Given the description of an element on the screen output the (x, y) to click on. 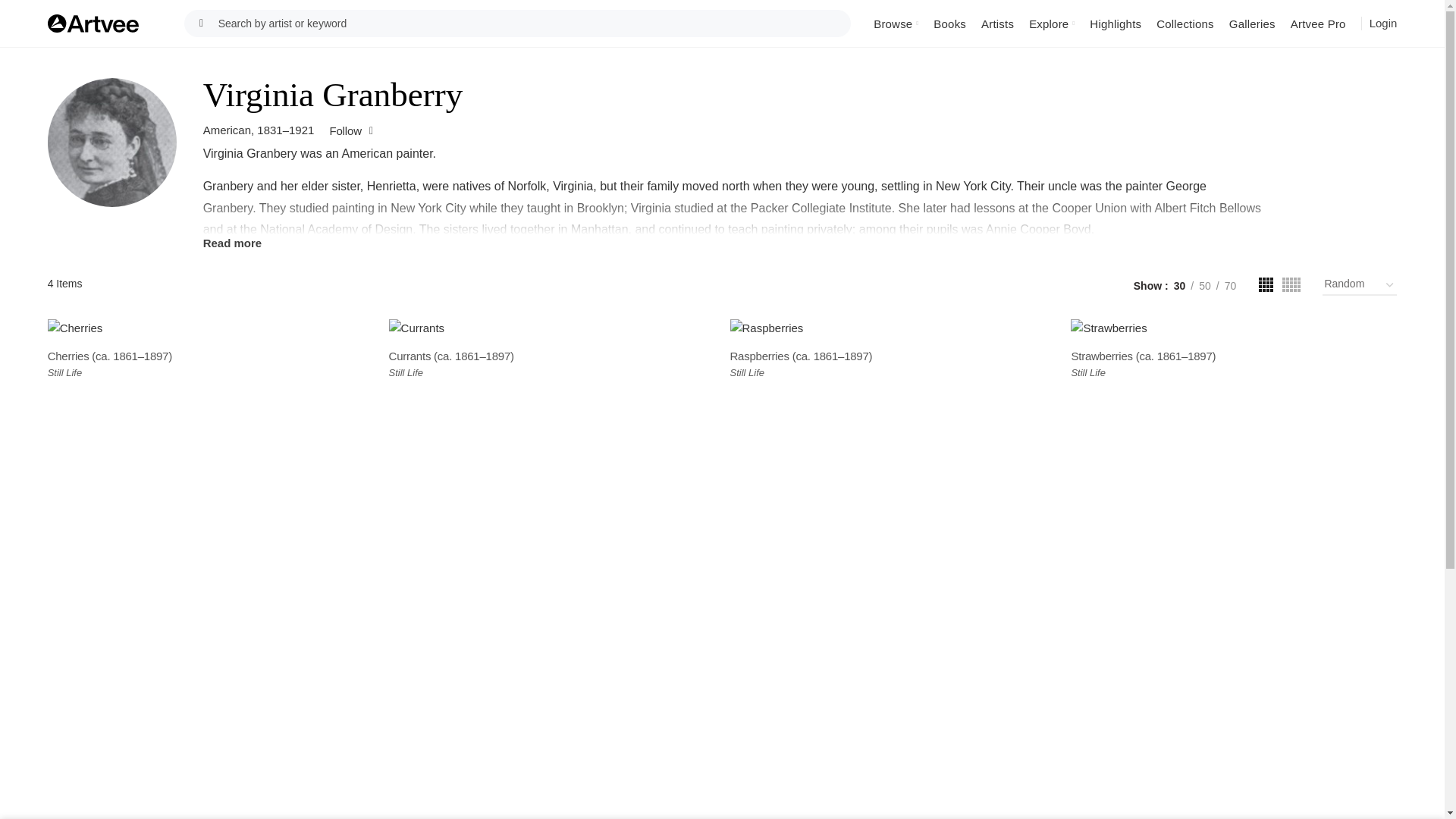
70 (1230, 285)
Still Life (65, 373)
Browse (896, 23)
Books (950, 23)
Explore (1051, 23)
Collections (1184, 23)
Artvee Pro (1318, 23)
Login (1383, 22)
SEARCH (201, 22)
Galleries (1251, 23)
Highlights (1114, 23)
50 (1204, 285)
Virginia Granberry (112, 142)
30 (1180, 285)
Artists (998, 23)
